Given the description of an element on the screen output the (x, y) to click on. 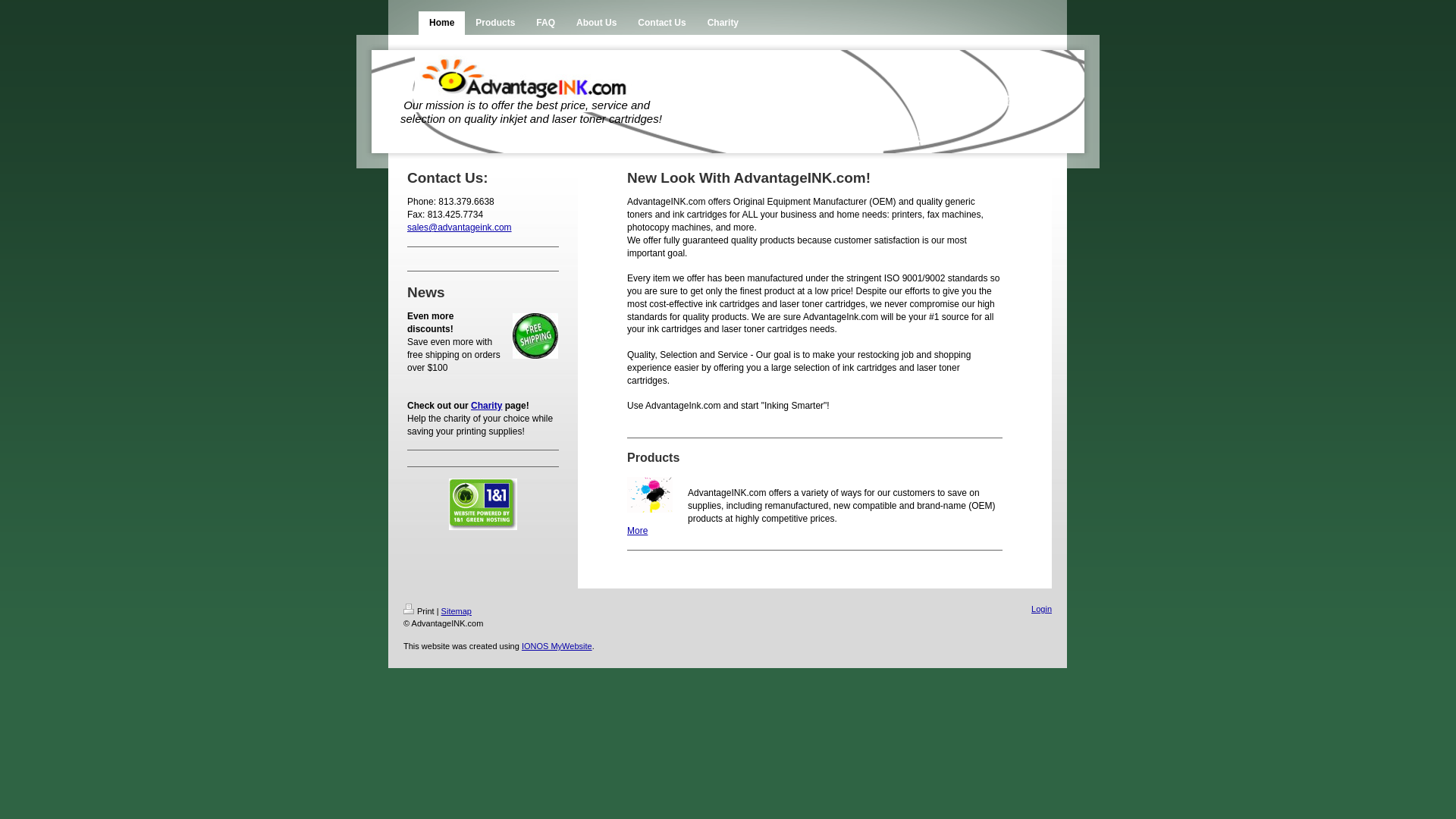
Products (494, 23)
Home (441, 23)
Contact Us (661, 23)
About Us (596, 23)
FAQ (545, 23)
Sitemap (456, 610)
More (637, 530)
Print (418, 610)
Charity (723, 23)
IONOS MyWebsite (556, 645)
Login (1040, 608)
Charity (486, 405)
